Given the description of an element on the screen output the (x, y) to click on. 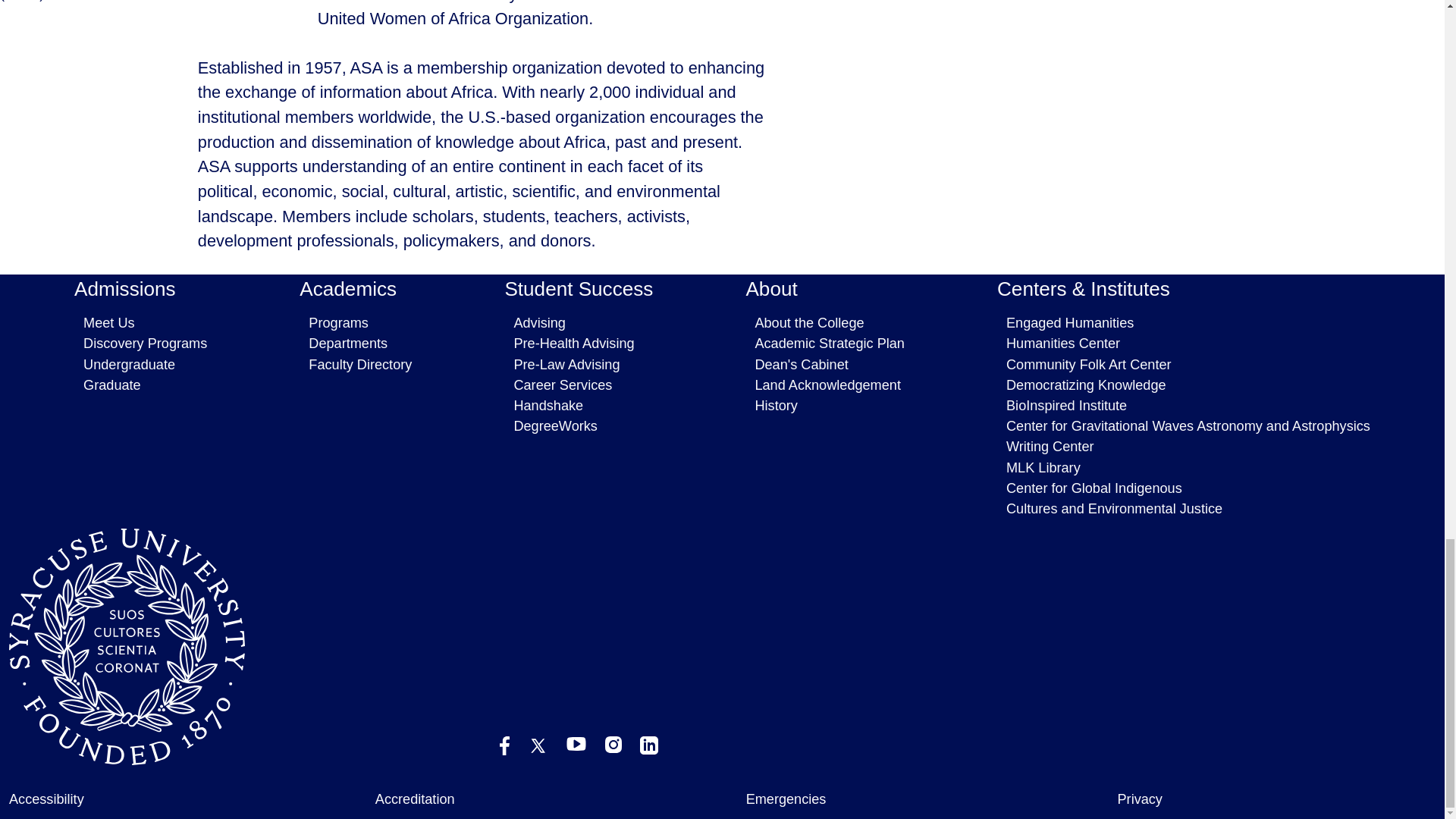
Connect with Arts and Sciences on LinkedIn (649, 745)
Subscribe to Arts and Sciences on YouTube (576, 744)
Follow Arts and Sciences on Instagram (613, 744)
